Given the description of an element on the screen output the (x, y) to click on. 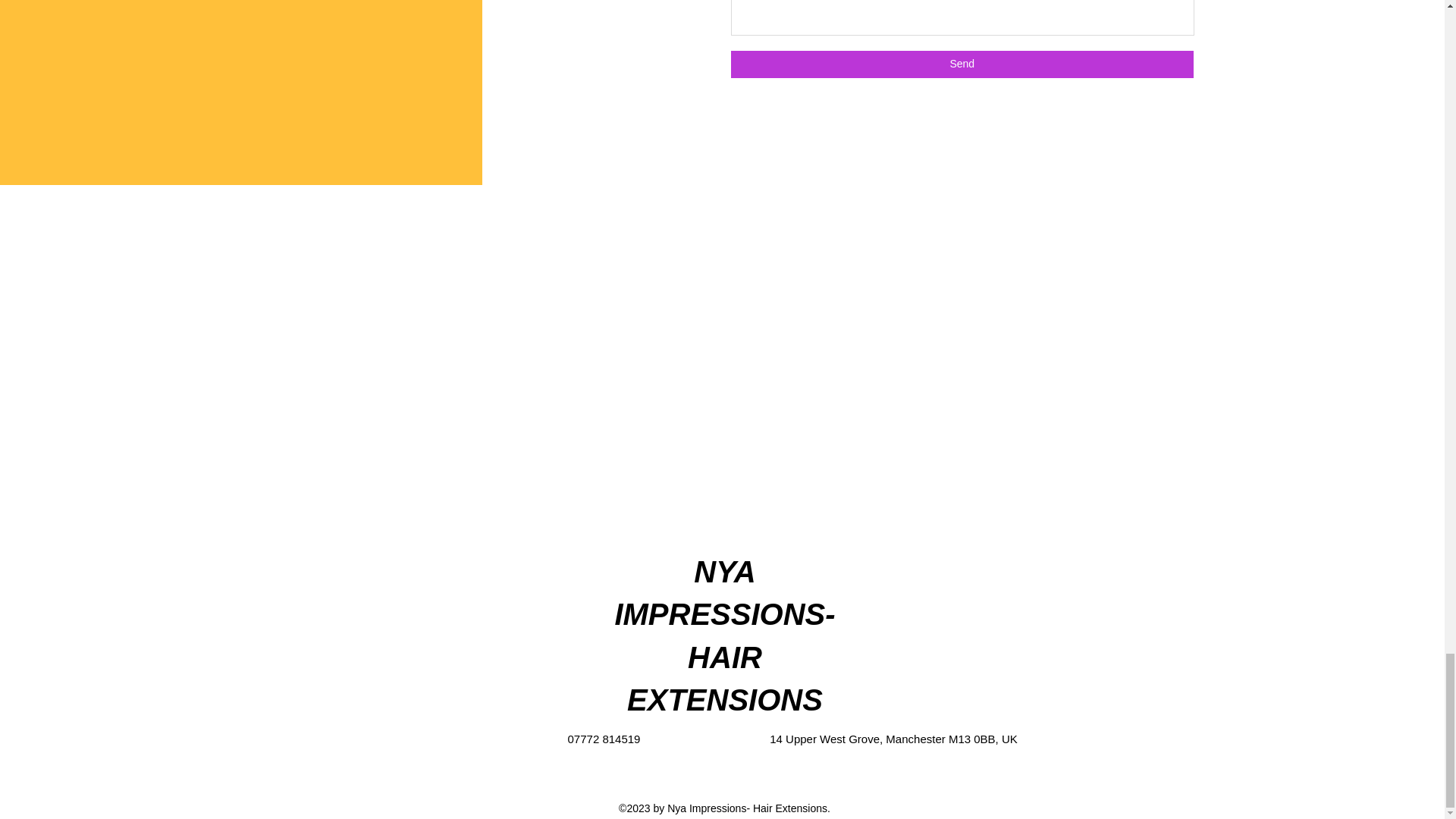
Send (961, 63)
NYA IMPRESSIONS- HAIR EXTENSIONS (724, 635)
